Given the description of an element on the screen output the (x, y) to click on. 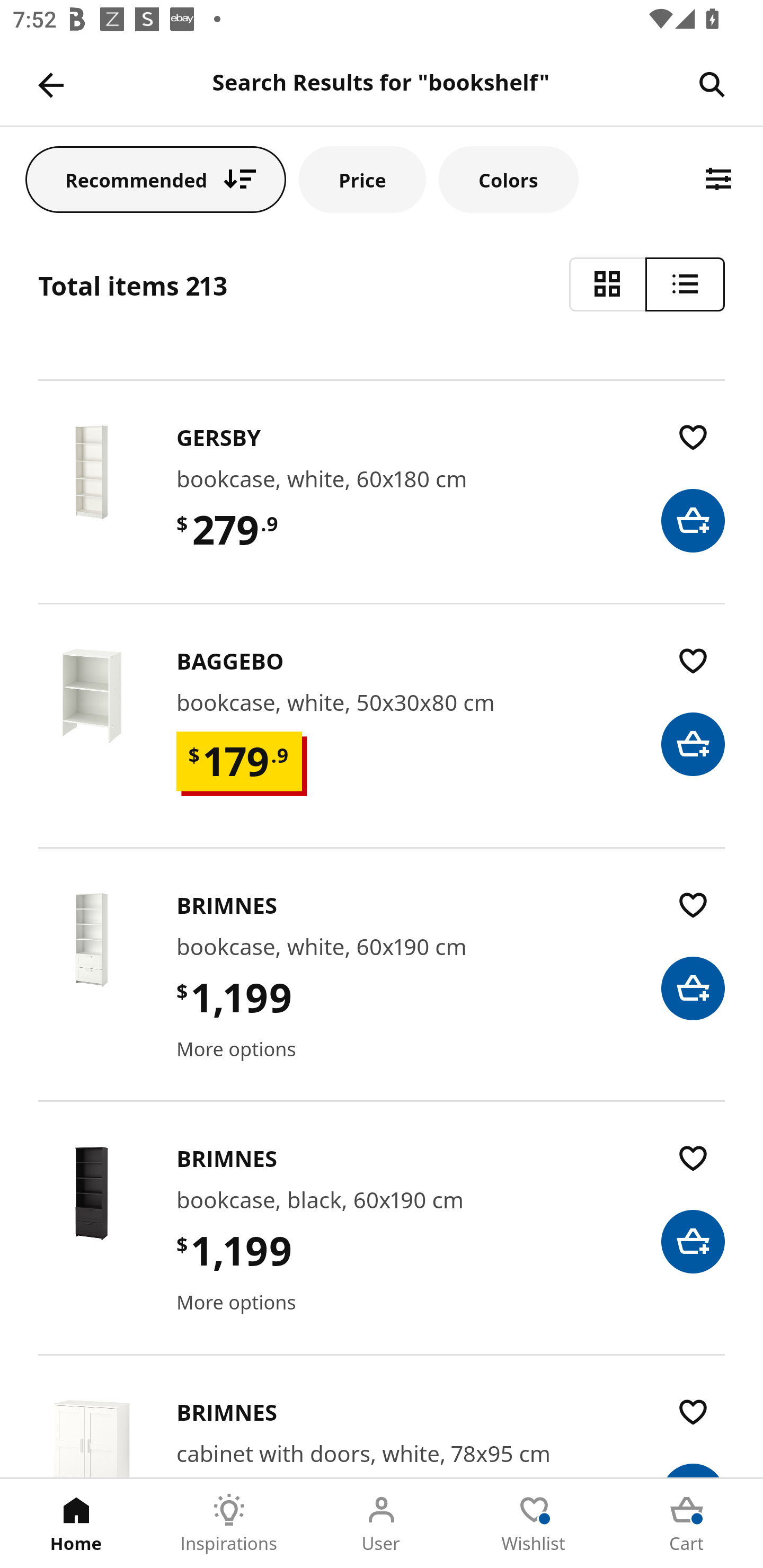
Recommended (155, 179)
Price (362, 179)
Colors (508, 179)
​G​E​R​S​B​Y​
bookcase, white, 60x180 cm
$
279
.9 (381, 510)
Home
Tab 1 of 5 (76, 1522)
Inspirations
Tab 2 of 5 (228, 1522)
User
Tab 3 of 5 (381, 1522)
Wishlist
Tab 4 of 5 (533, 1522)
Cart
Tab 5 of 5 (686, 1522)
